Given the description of an element on the screen output the (x, y) to click on. 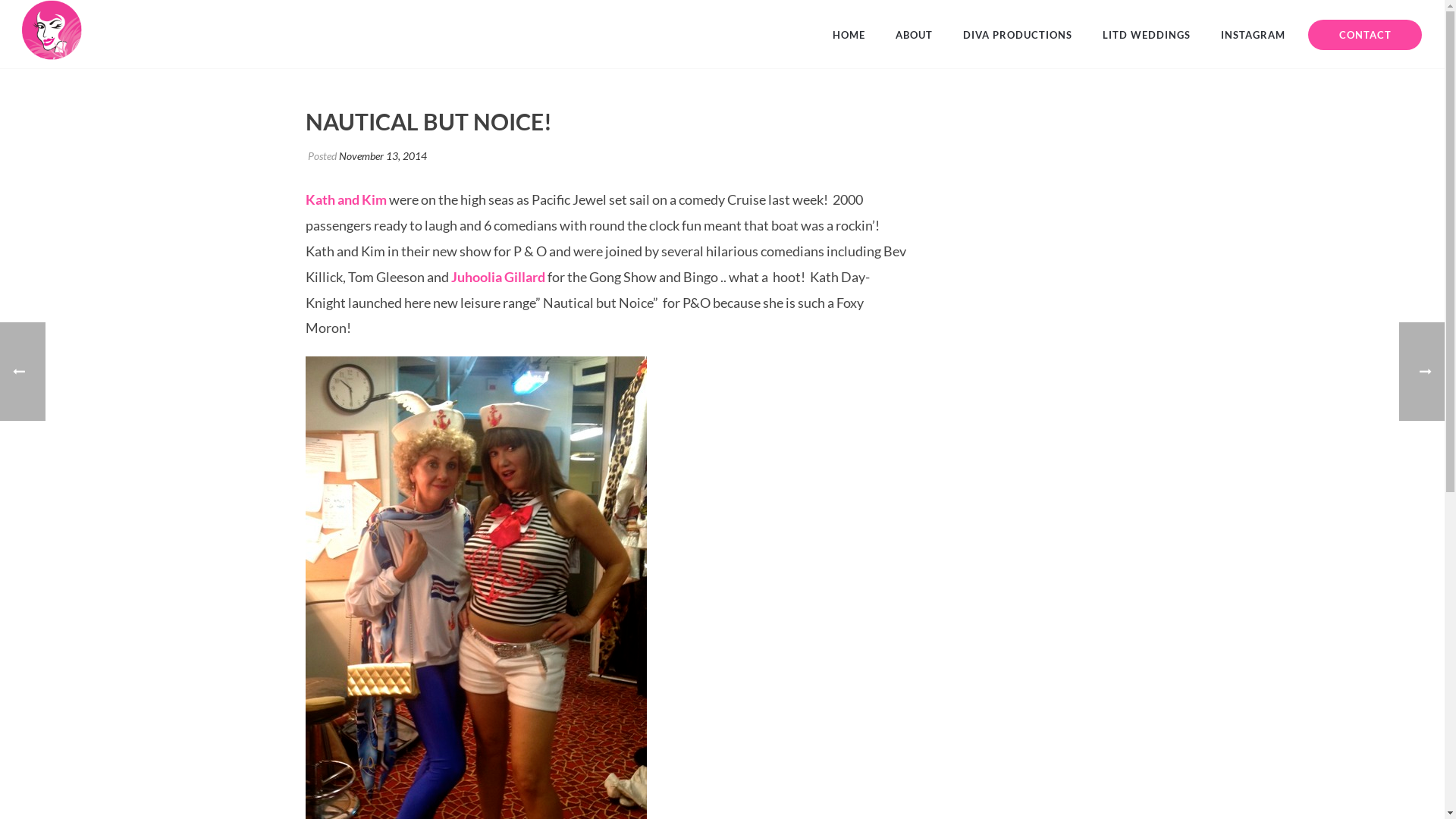
DIVA PRODUCTIONS Element type: text (1017, 34)
ABOUT Element type: text (913, 34)
LITD WEDDINGS Element type: text (1146, 34)
November 13, 2014 Element type: text (382, 155)
CONTACT Element type: text (1364, 34)
HOME Element type: text (848, 34)
INSTAGRAM Element type: text (1252, 34)
